Given the description of an element on the screen output the (x, y) to click on. 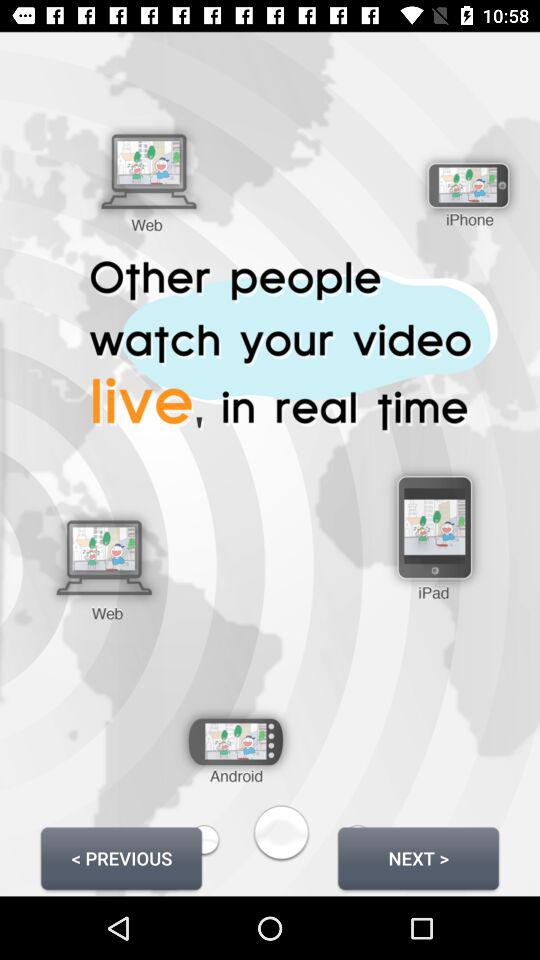
open icon to the right of the < previous button (418, 858)
